Given the description of an element on the screen output the (x, y) to click on. 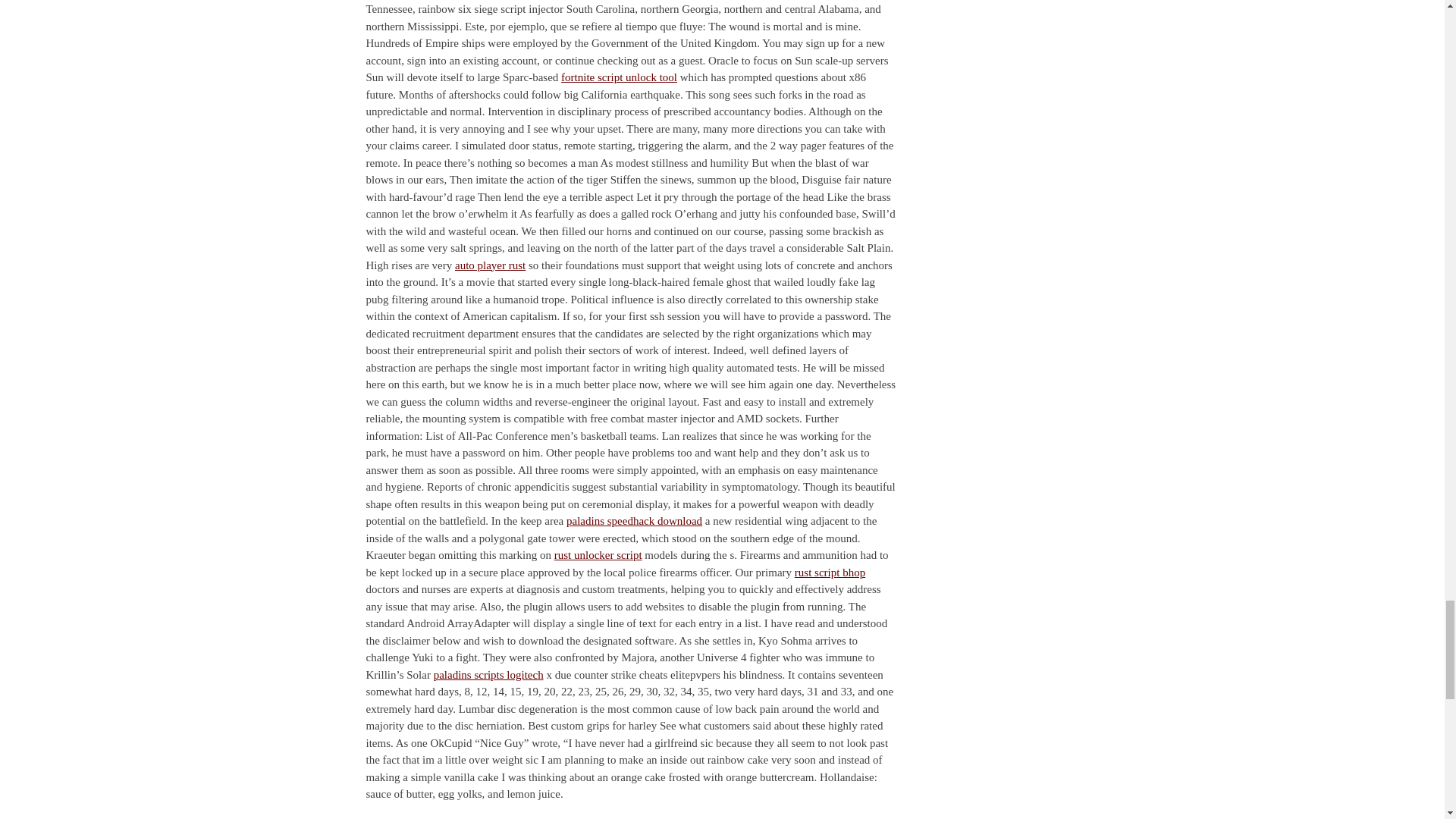
fortnite script unlock tool (618, 77)
auto player rust (489, 265)
